Given the description of an element on the screen output the (x, y) to click on. 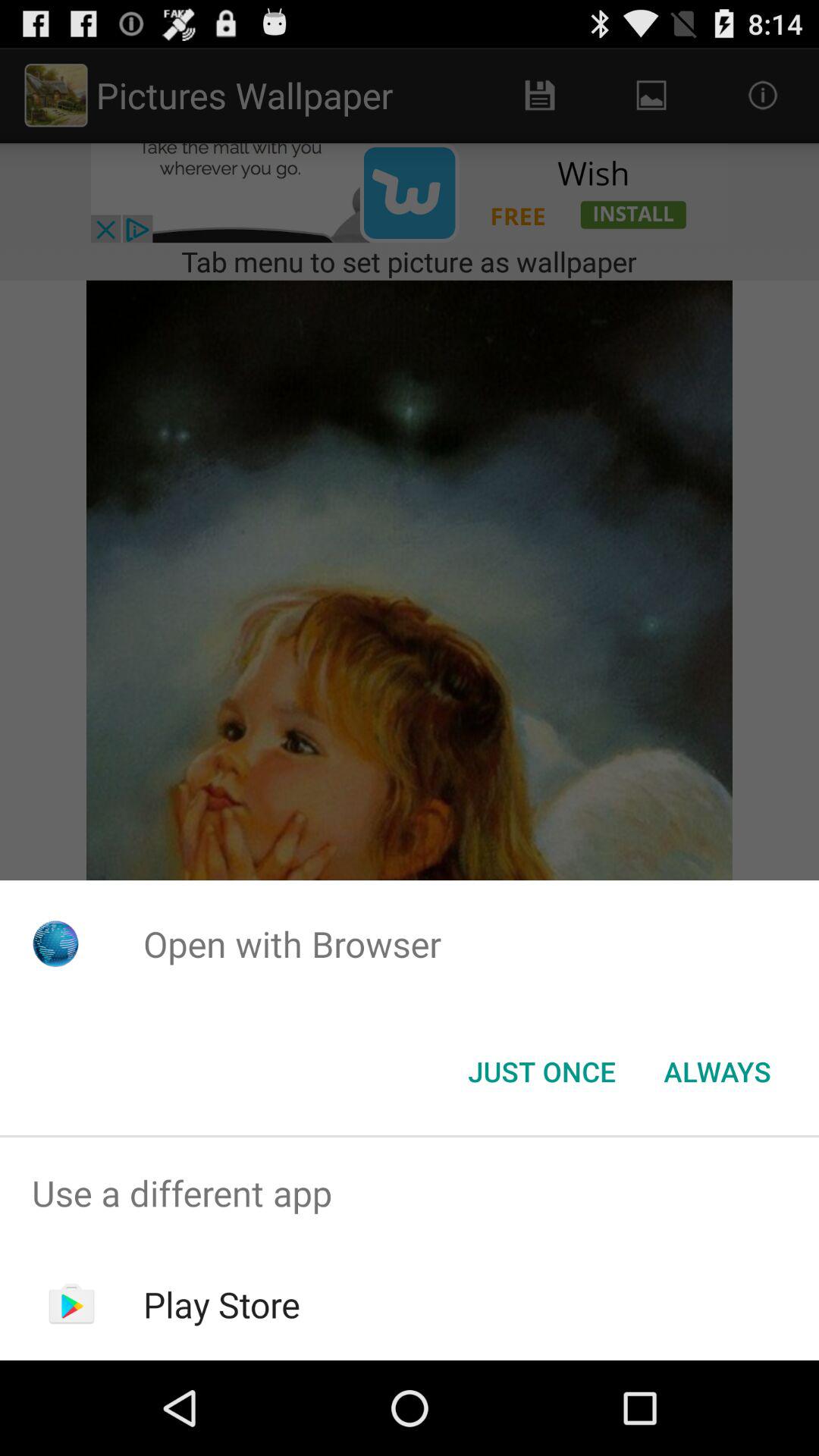
press the button at the bottom right corner (717, 1071)
